Given the description of an element on the screen output the (x, y) to click on. 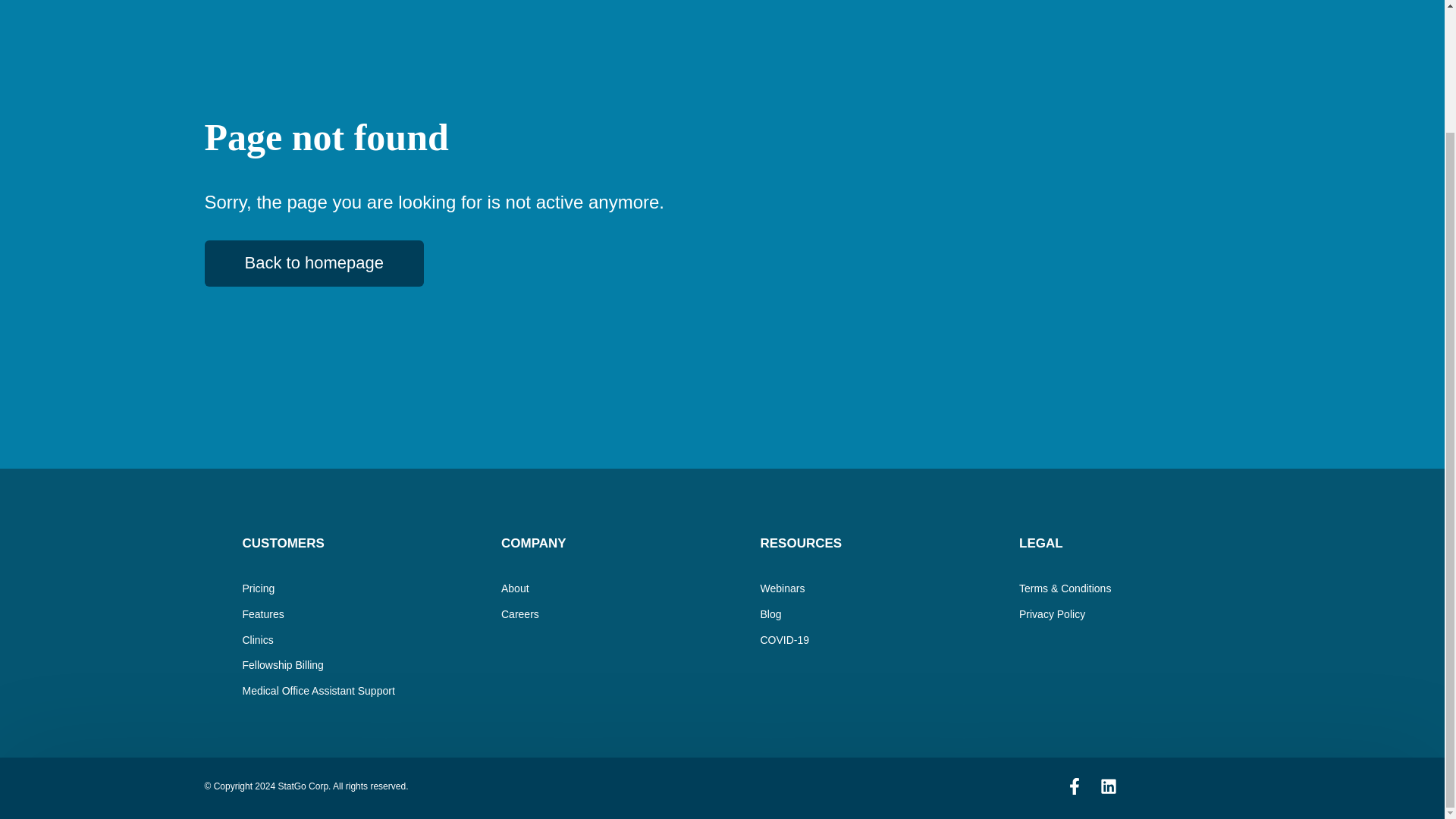
Webinars (782, 588)
Back to homepage (314, 263)
Pricing (259, 588)
Privacy Policy (1051, 613)
About (514, 588)
Medical Office Assistant Support (318, 690)
Fellowship Billing (283, 664)
Blog (770, 613)
COVID-19 (784, 639)
Clinics (258, 639)
Features (263, 613)
Careers (519, 613)
